Given the description of an element on the screen output the (x, y) to click on. 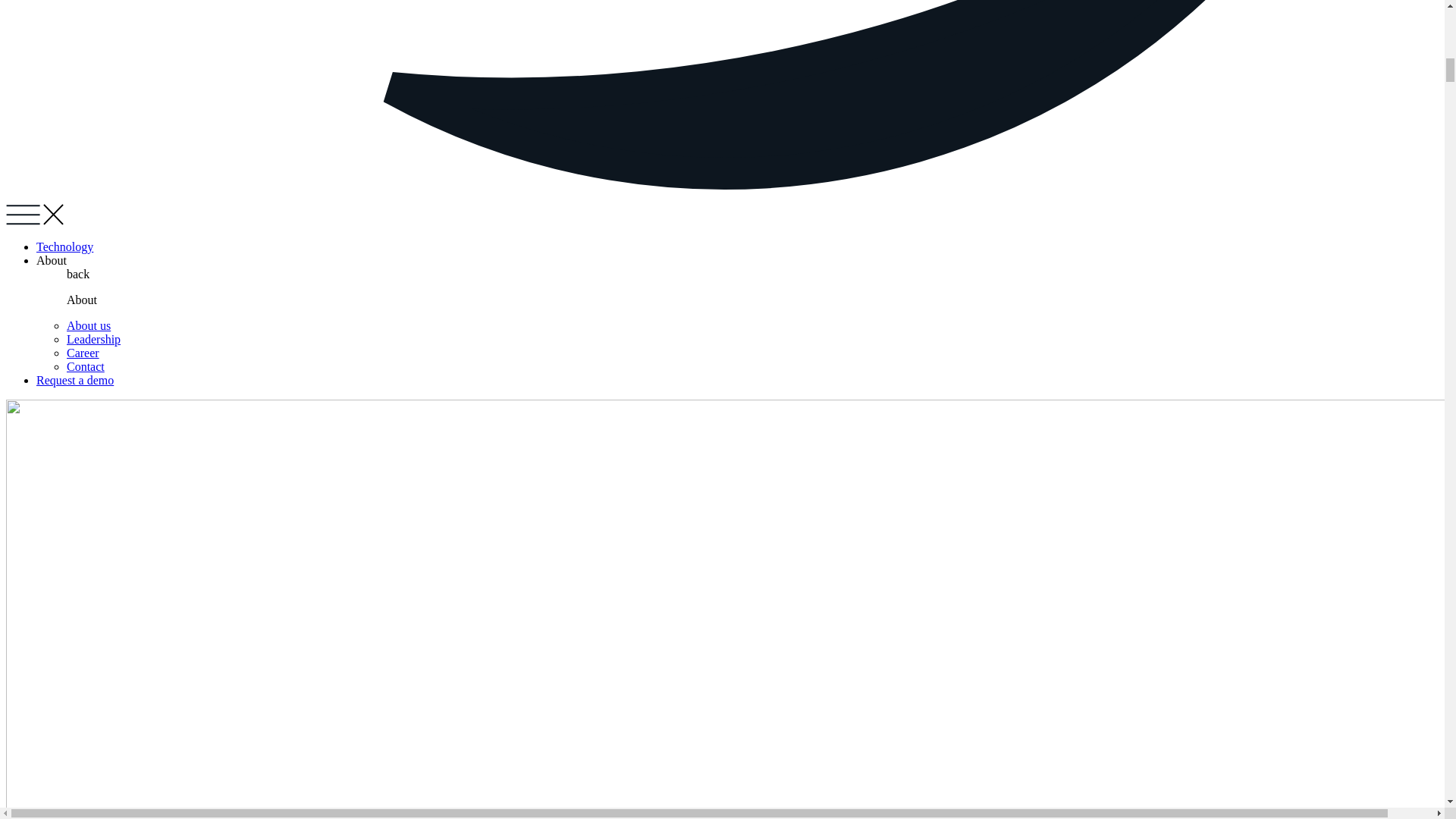
Request a demo (74, 379)
Contact (85, 366)
About (51, 259)
About us (88, 325)
Career (82, 352)
Technology (64, 246)
Leadership (93, 338)
About (81, 299)
back (77, 273)
